Given the description of an element on the screen output the (x, y) to click on. 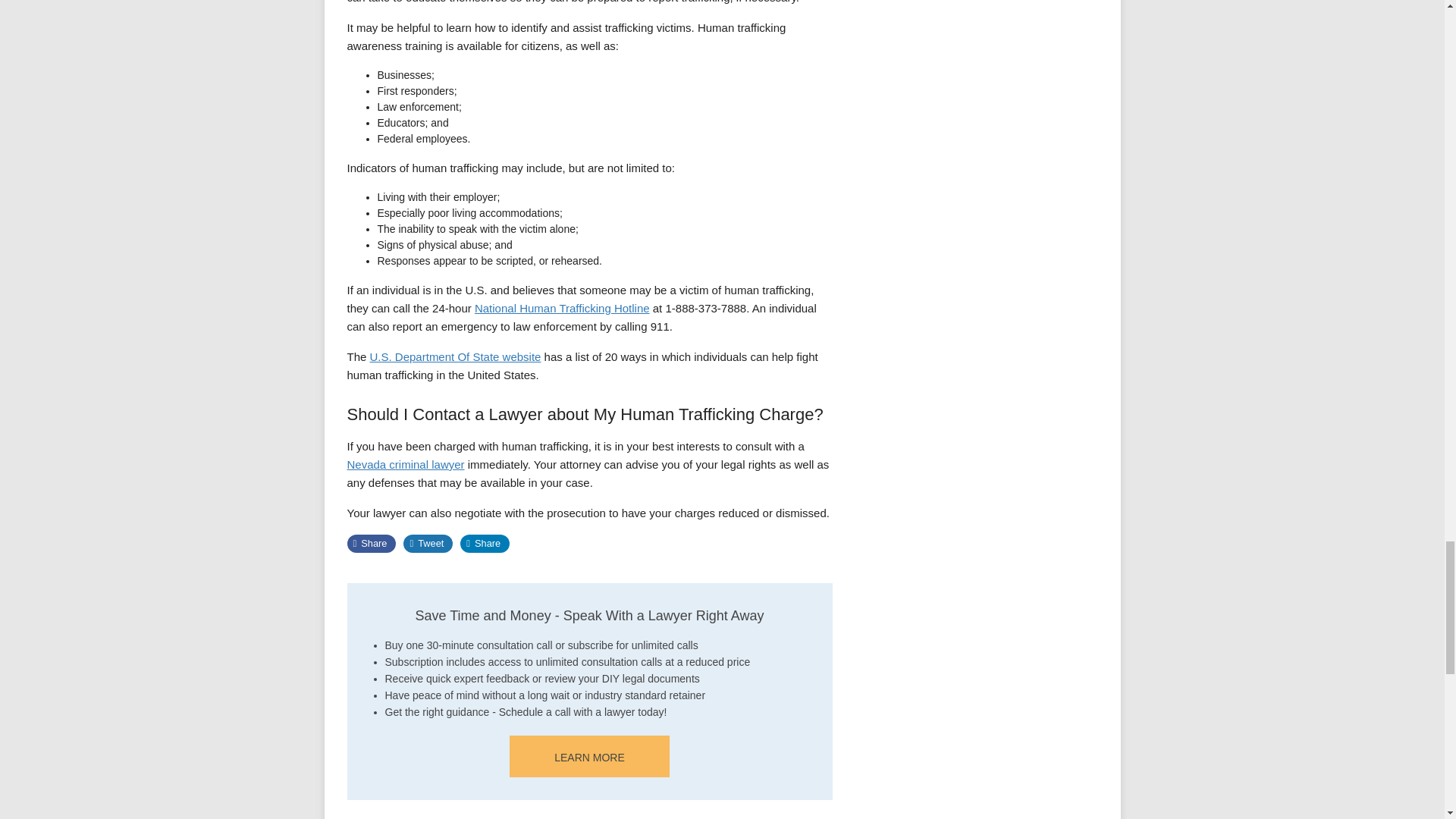
Share LawLib Page On Facebook (371, 543)
Share LawLib Page On Twitter (427, 543)
Share LawLib Page On Linkedin (484, 543)
